Given the description of an element on the screen output the (x, y) to click on. 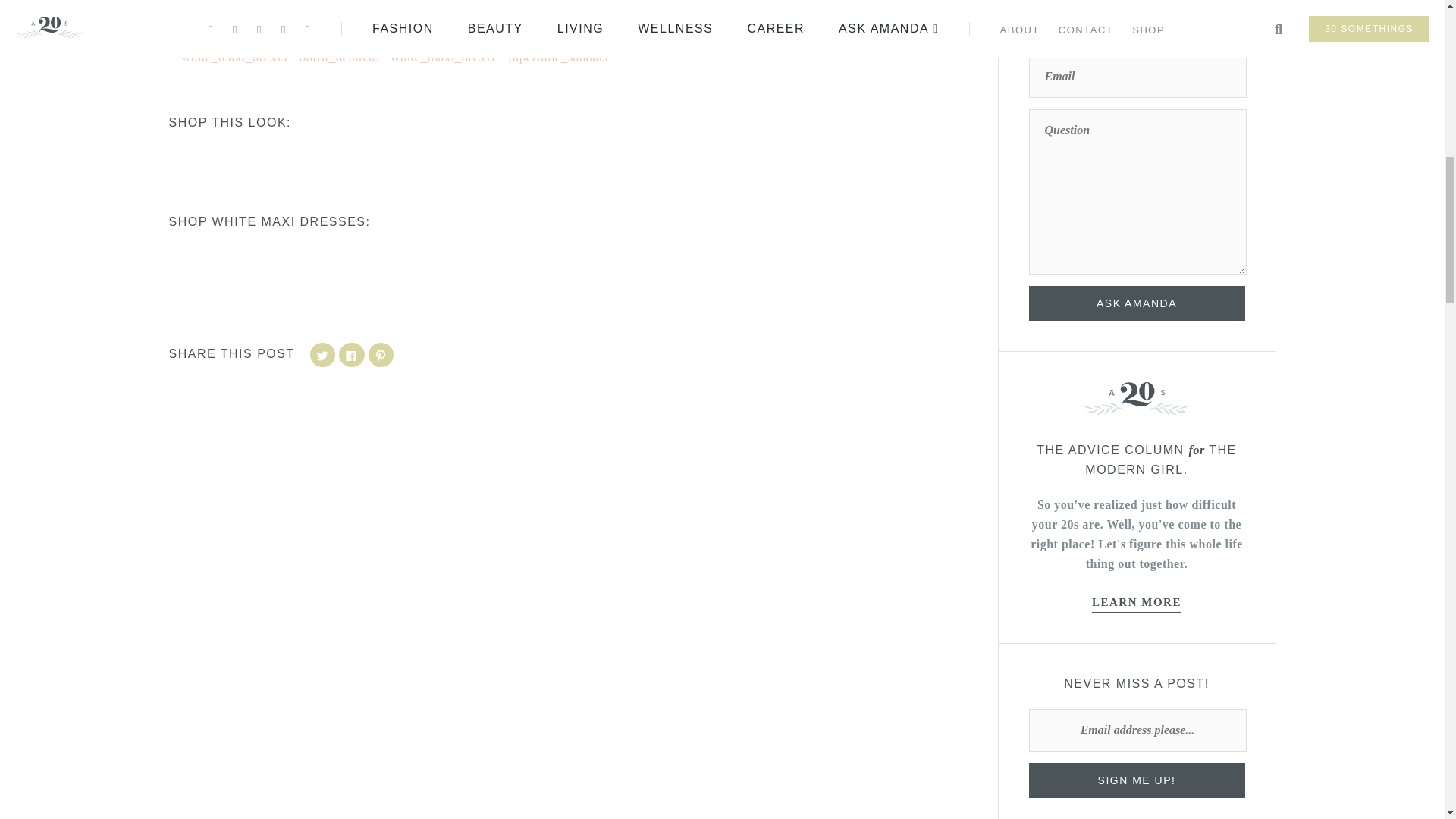
Click to share on Facebook (352, 354)
Sign Me Up! (1135, 779)
Click to share on Pinterest (381, 354)
Click to share on Twitter (323, 354)
Ask Amanda (1135, 303)
